Given the description of an element on the screen output the (x, y) to click on. 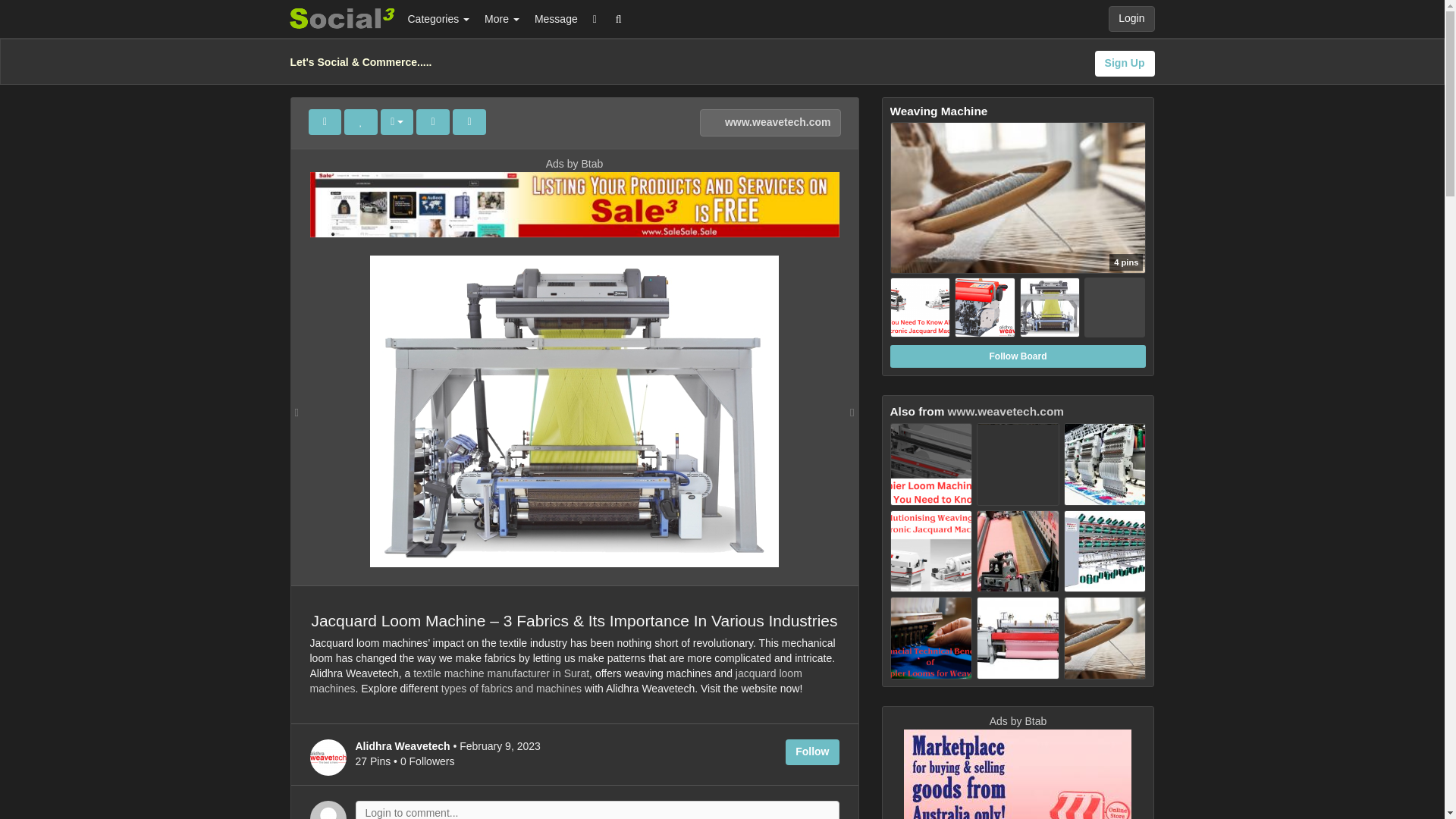
More (502, 18)
Message (556, 18)
Weaving Machine (1018, 231)
Repin (323, 121)
Report (469, 121)
Sign Up (1124, 63)
Like (360, 121)
Login (1131, 18)
Categories (438, 18)
Zoom (432, 121)
